Given the description of an element on the screen output the (x, y) to click on. 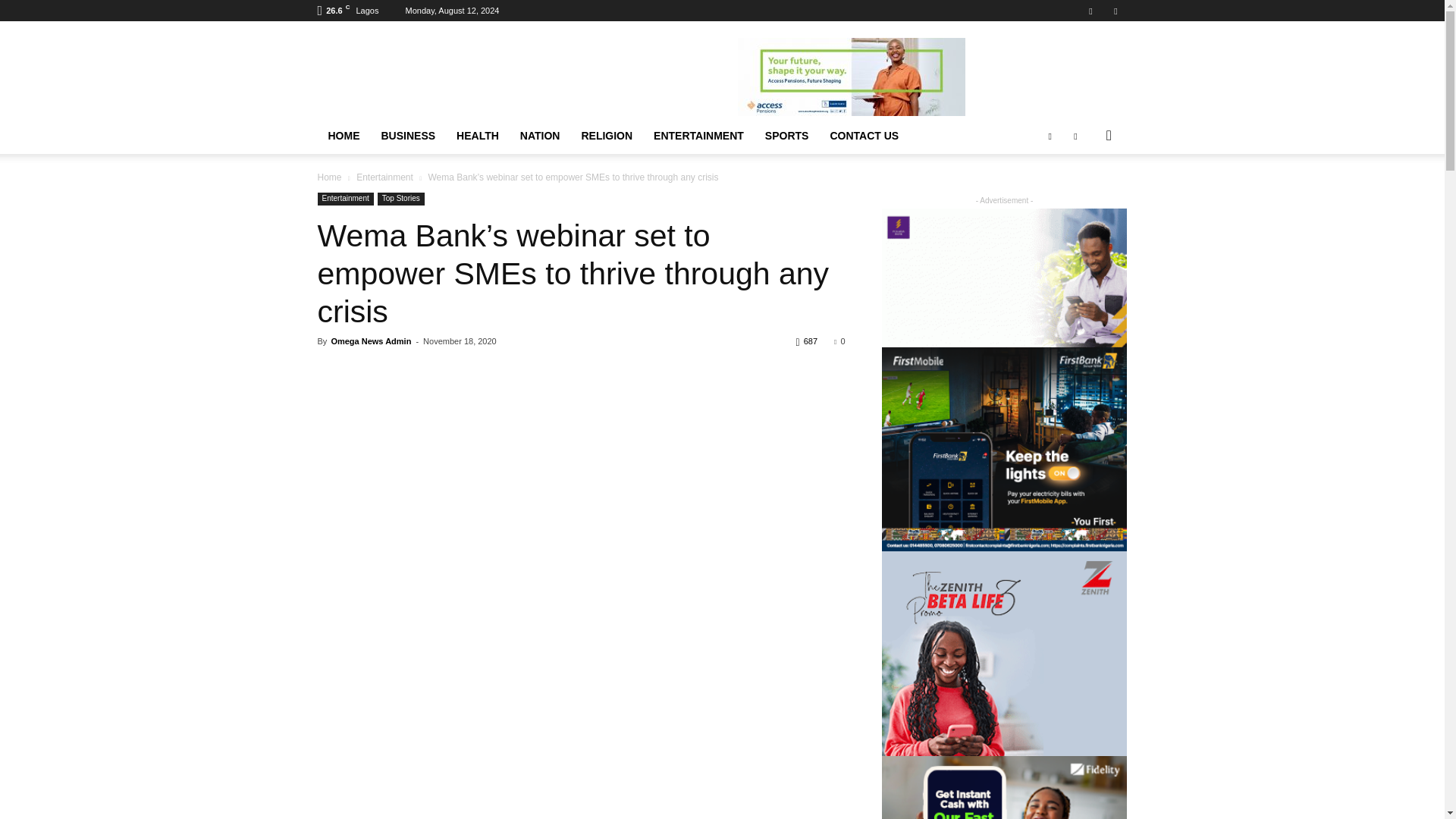
View all posts in Entertainment (384, 176)
Twitter (1114, 10)
NATION (539, 135)
Search (1085, 196)
Entertainment (384, 176)
Top Stories (401, 198)
ENTERTAINMENT (698, 135)
CONTACT US (863, 135)
Facebook (1090, 10)
Entertainment (344, 198)
